Given the description of an element on the screen output the (x, y) to click on. 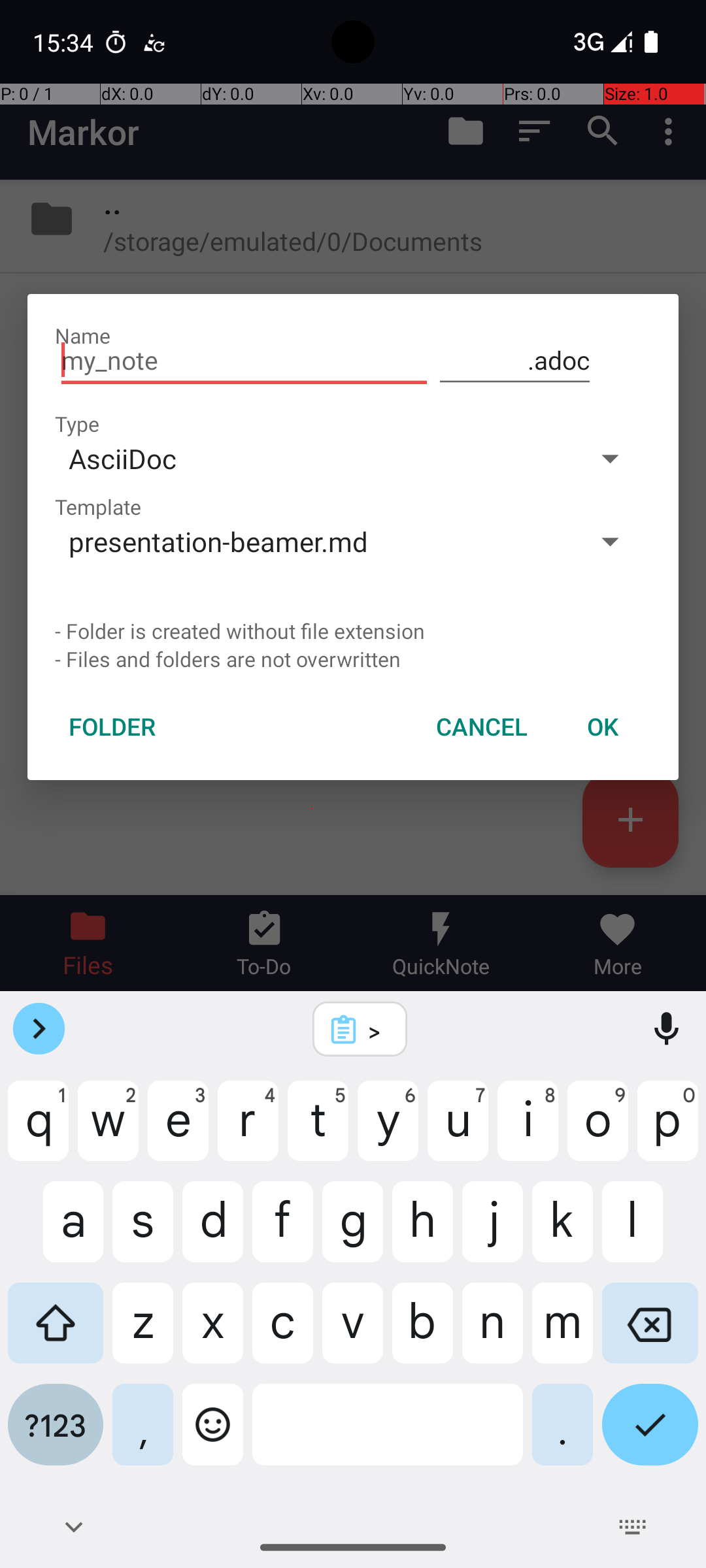
.adoc Element type: android.widget.EditText (514, 360)
>  Element type: android.widget.TextView (377, 1029)
